Given the description of an element on the screen output the (x, y) to click on. 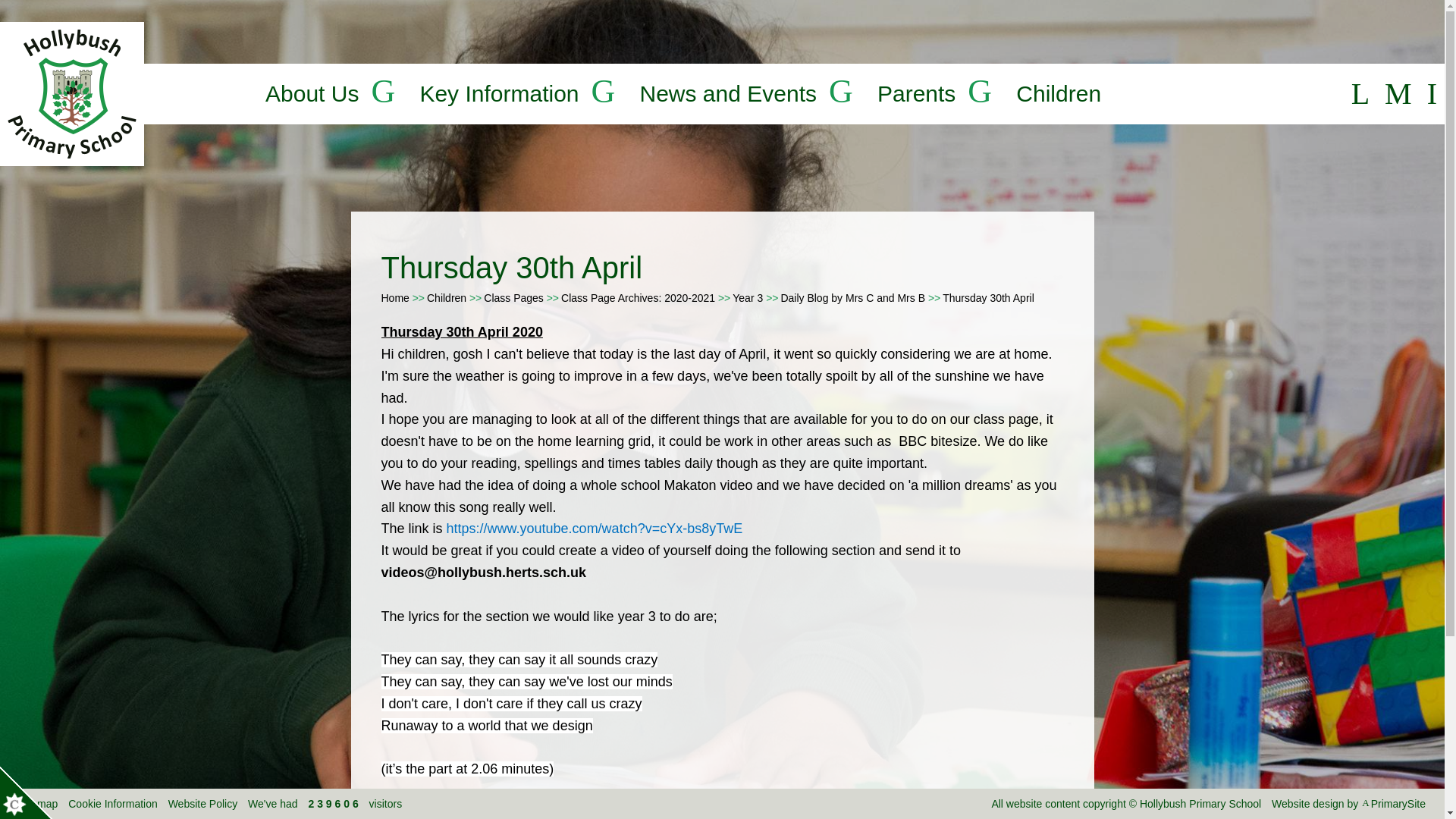
Home Page (72, 94)
About Us (311, 93)
Key Information (498, 93)
